Given the description of an element on the screen output the (x, y) to click on. 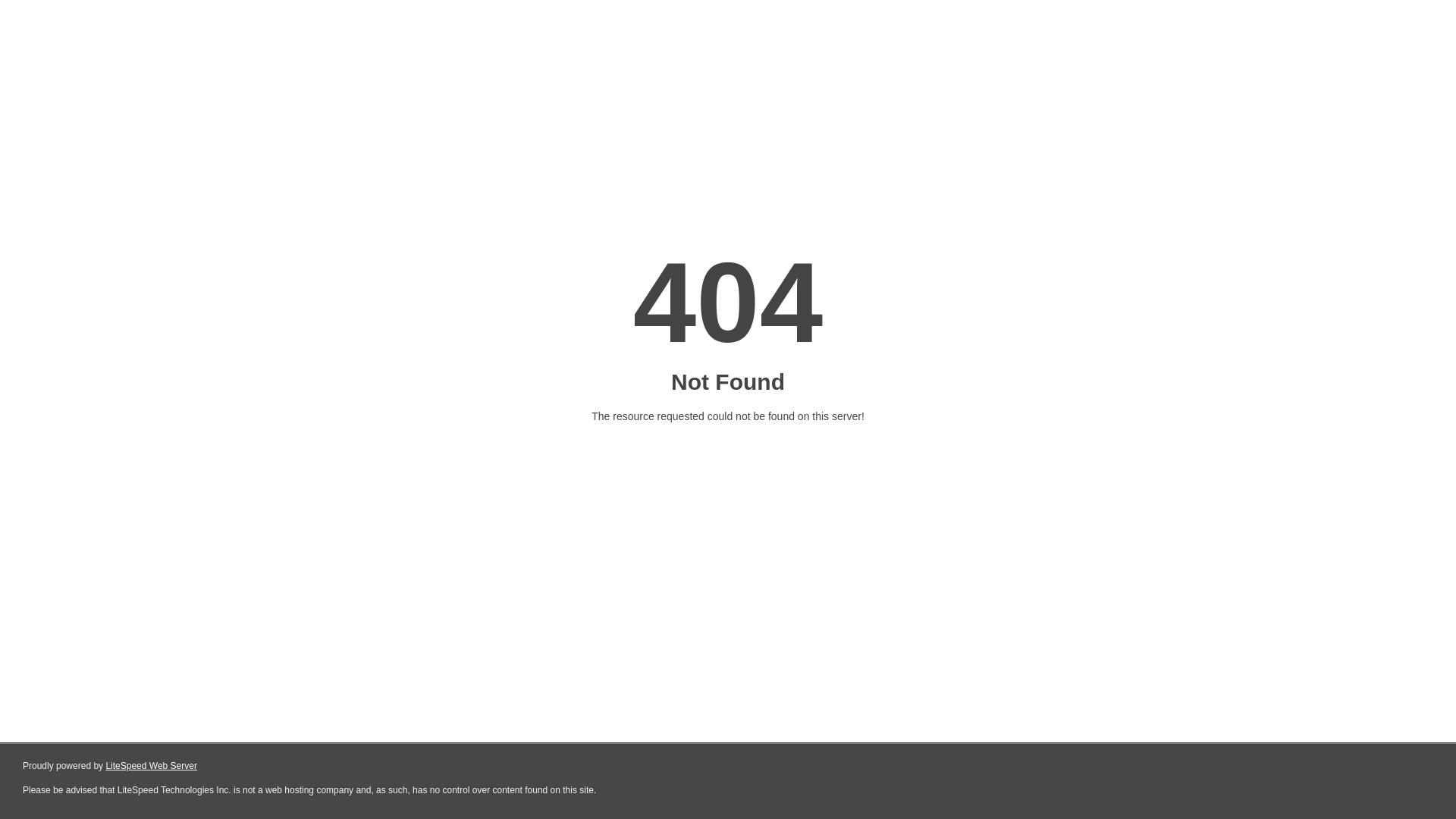
LiteSpeed Web Server Element type: text (151, 765)
